Given the description of an element on the screen output the (x, y) to click on. 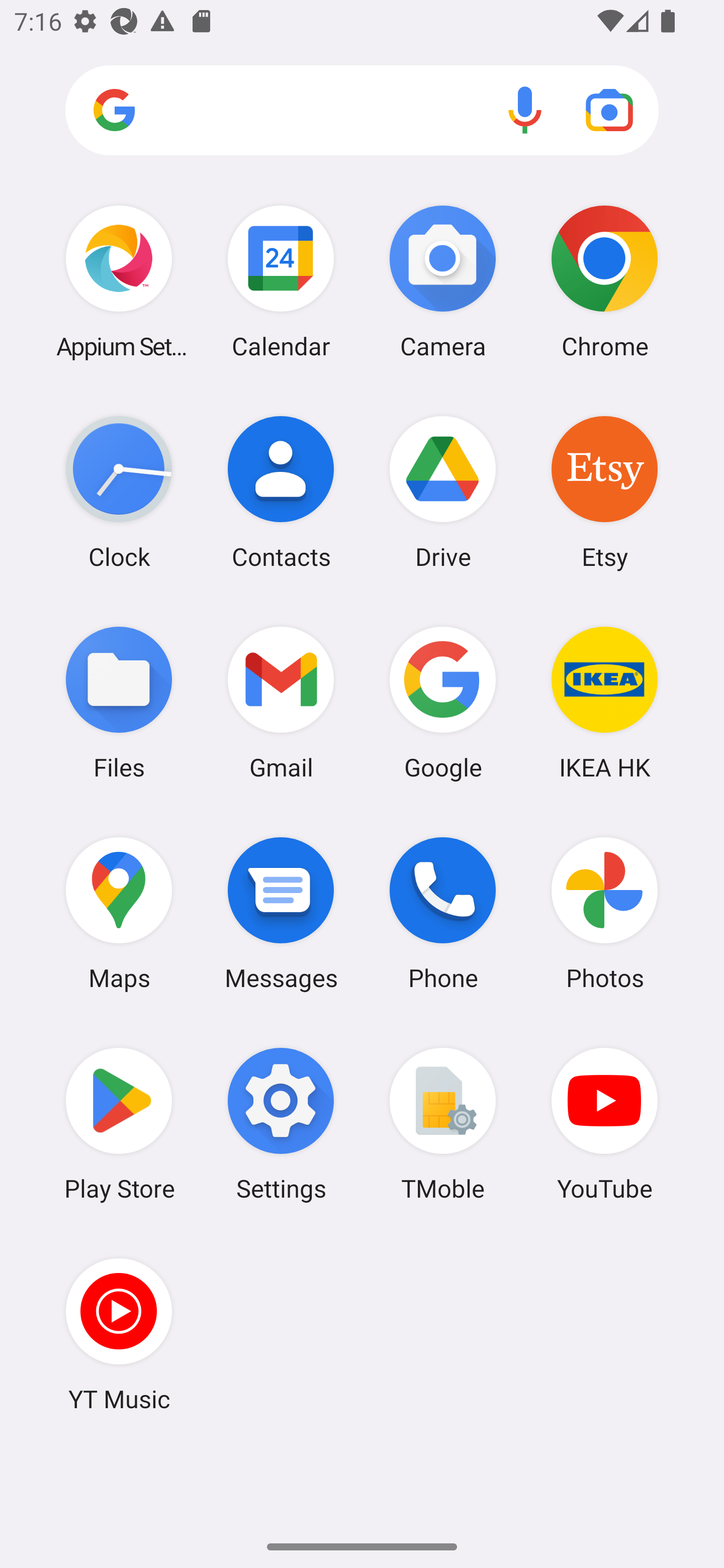
Search apps, web and more (361, 110)
Voice search (524, 109)
Google Lens (608, 109)
Appium Settings (118, 281)
Calendar (280, 281)
Camera (443, 281)
Chrome (604, 281)
Clock (118, 492)
Contacts (280, 492)
Drive (443, 492)
Etsy (604, 492)
Files (118, 702)
Gmail (280, 702)
Google (443, 702)
IKEA HK (604, 702)
Maps (118, 913)
Messages (280, 913)
Phone (443, 913)
Photos (604, 913)
Play Store (118, 1124)
Settings (280, 1124)
TMoble (443, 1124)
YouTube (604, 1124)
YT Music (118, 1334)
